Given the description of an element on the screen output the (x, y) to click on. 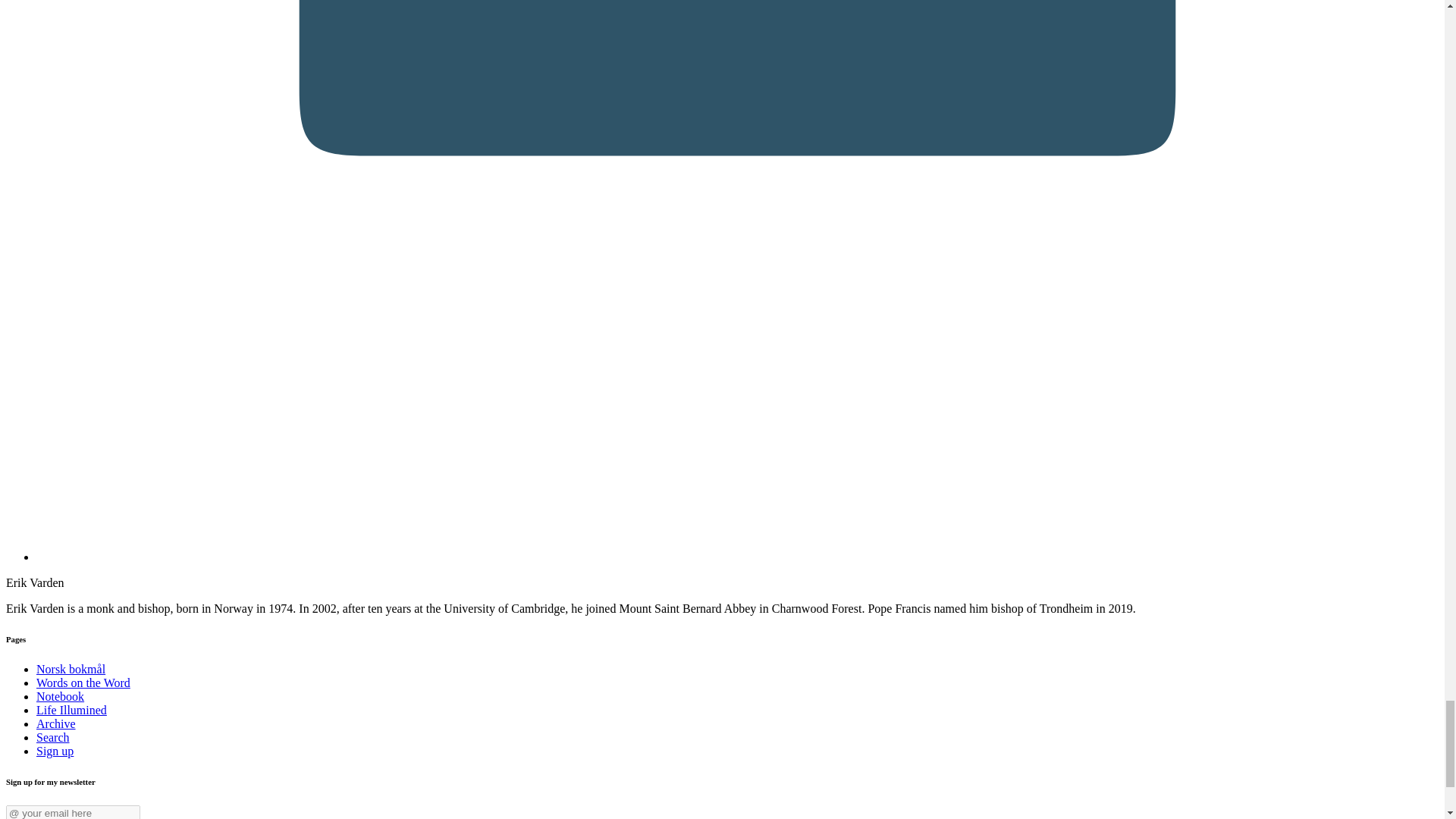
Search (52, 737)
Life Illumined (71, 709)
Sign up (55, 750)
Notebook (60, 696)
Archive (55, 723)
Words on the Word (83, 682)
